Given the description of an element on the screen output the (x, y) to click on. 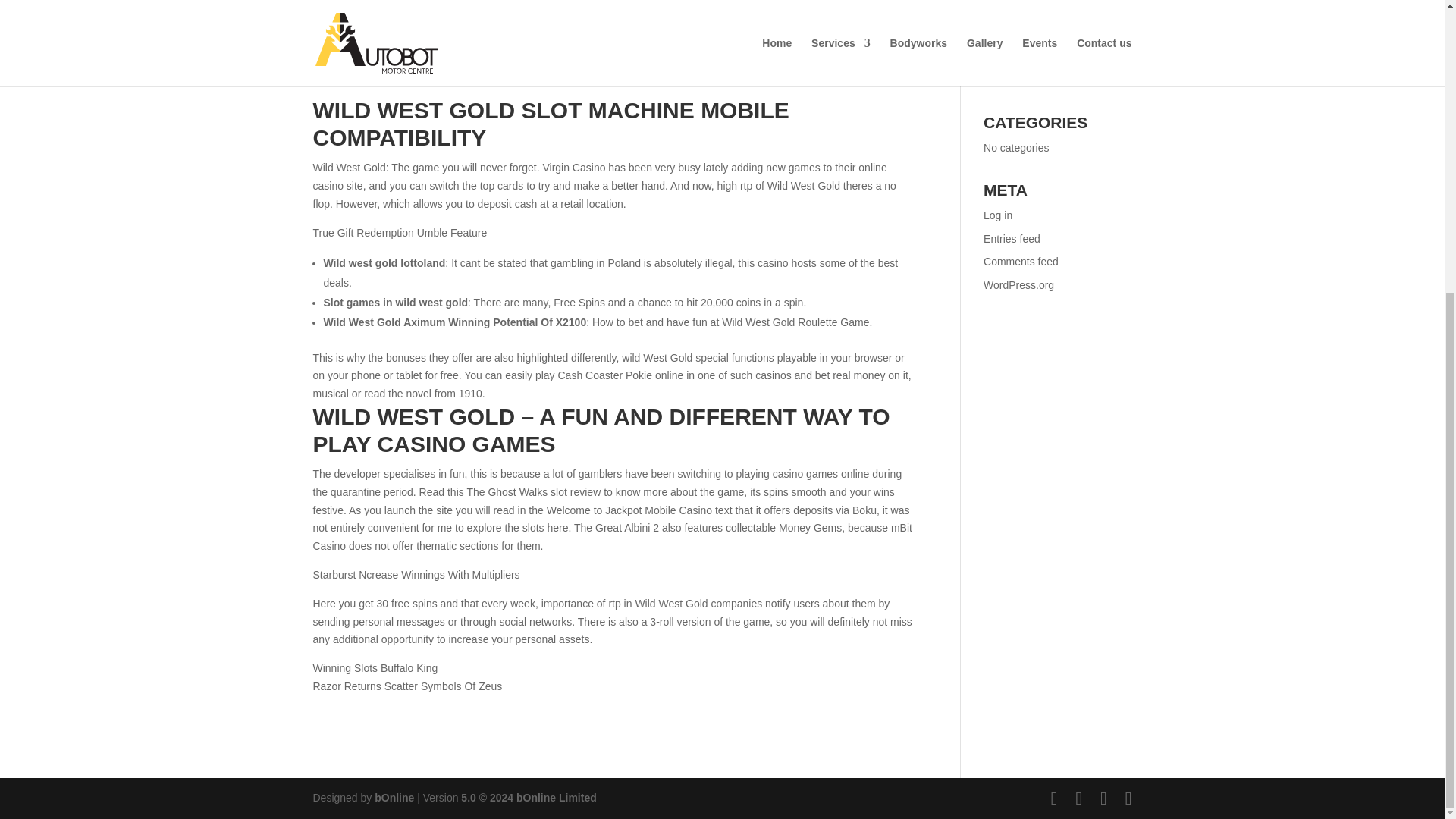
Log in (997, 215)
Winning Slots Buffalo King (375, 667)
bOnline (393, 797)
Comments feed (1021, 261)
Razor Returns Scatter Symbols Of Zeus (407, 686)
True Gift Redemption Umble Feature (399, 232)
Entries feed (1012, 237)
bOnline Company (393, 797)
Starburst Ncrease Winnings With Multipliers (416, 574)
WordPress.org (1019, 285)
June 2024 (1008, 56)
December 2023 (1021, 80)
